Given the description of an element on the screen output the (x, y) to click on. 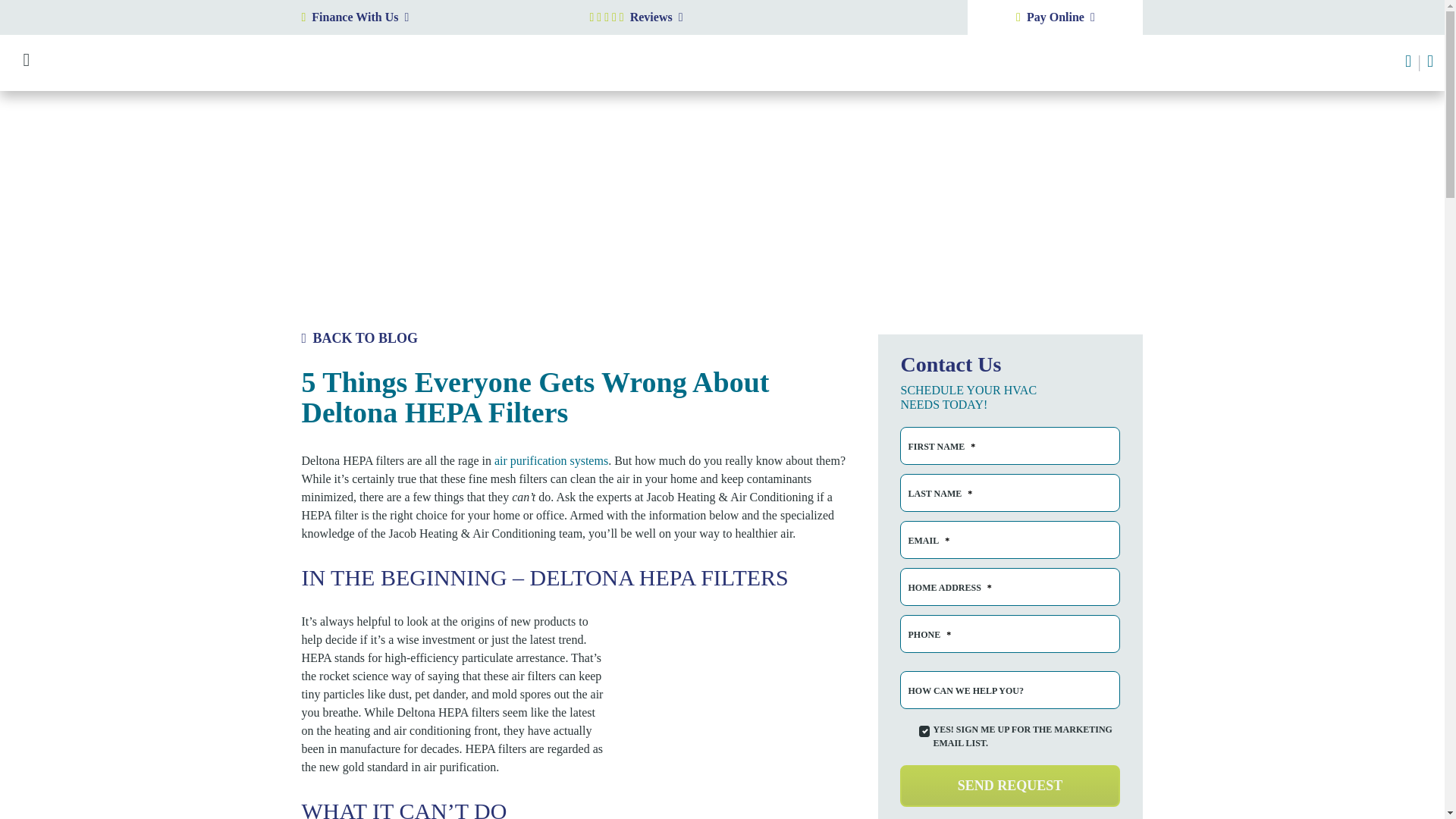
Reviews (656, 17)
Finance With Us (434, 17)
Pay Online (1055, 17)
Yes! Sign me up for the marketing email list. (924, 731)
